Given the description of an element on the screen output the (x, y) to click on. 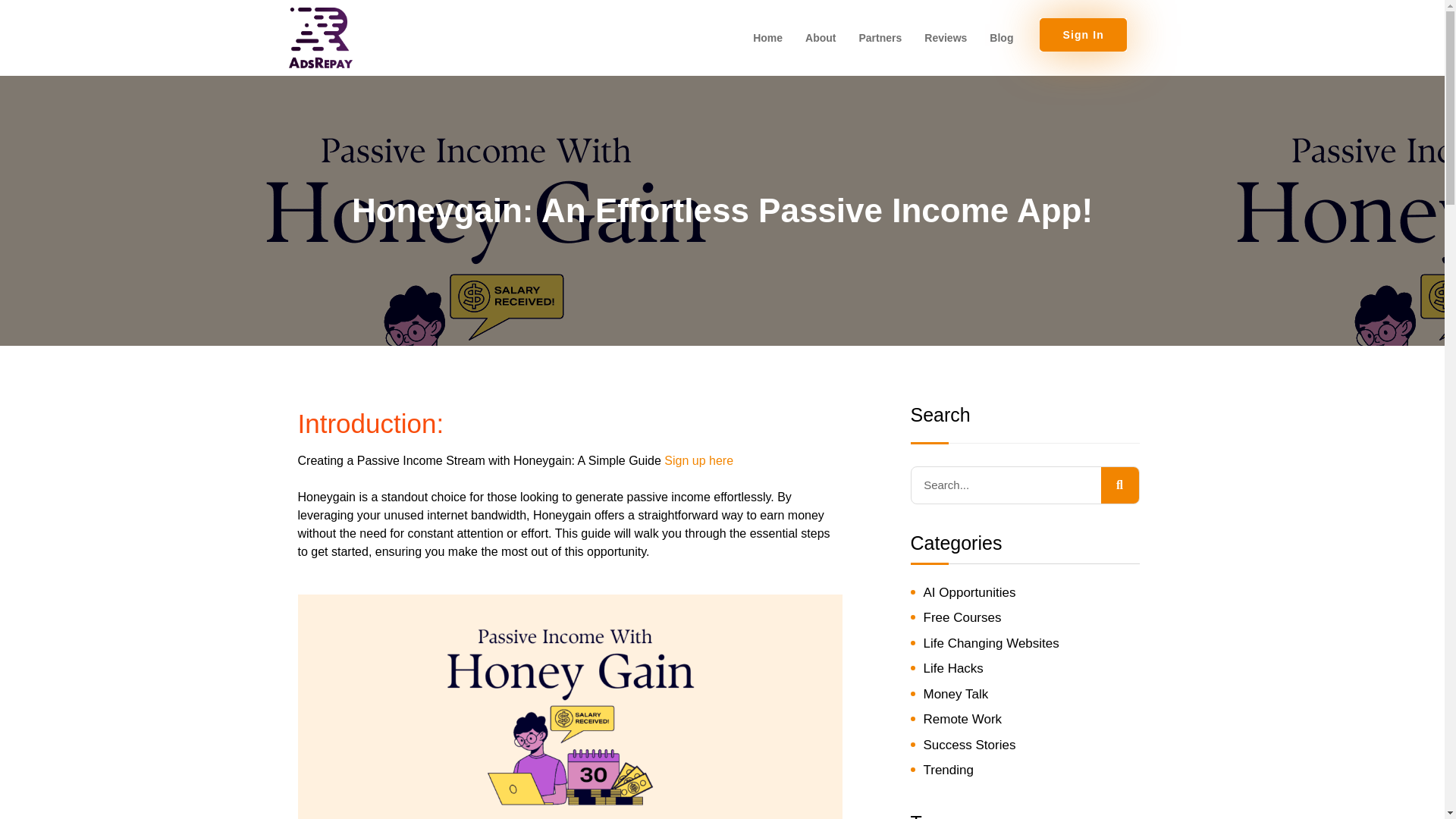
Life Hacks (953, 667)
Sign In (1082, 34)
Sign up here (698, 460)
Partners (879, 37)
Money Talk (955, 694)
Free Courses (962, 617)
About (820, 37)
Reviews (945, 37)
Life Changing Websites (991, 643)
Remote Work (963, 718)
